Given the description of an element on the screen output the (x, y) to click on. 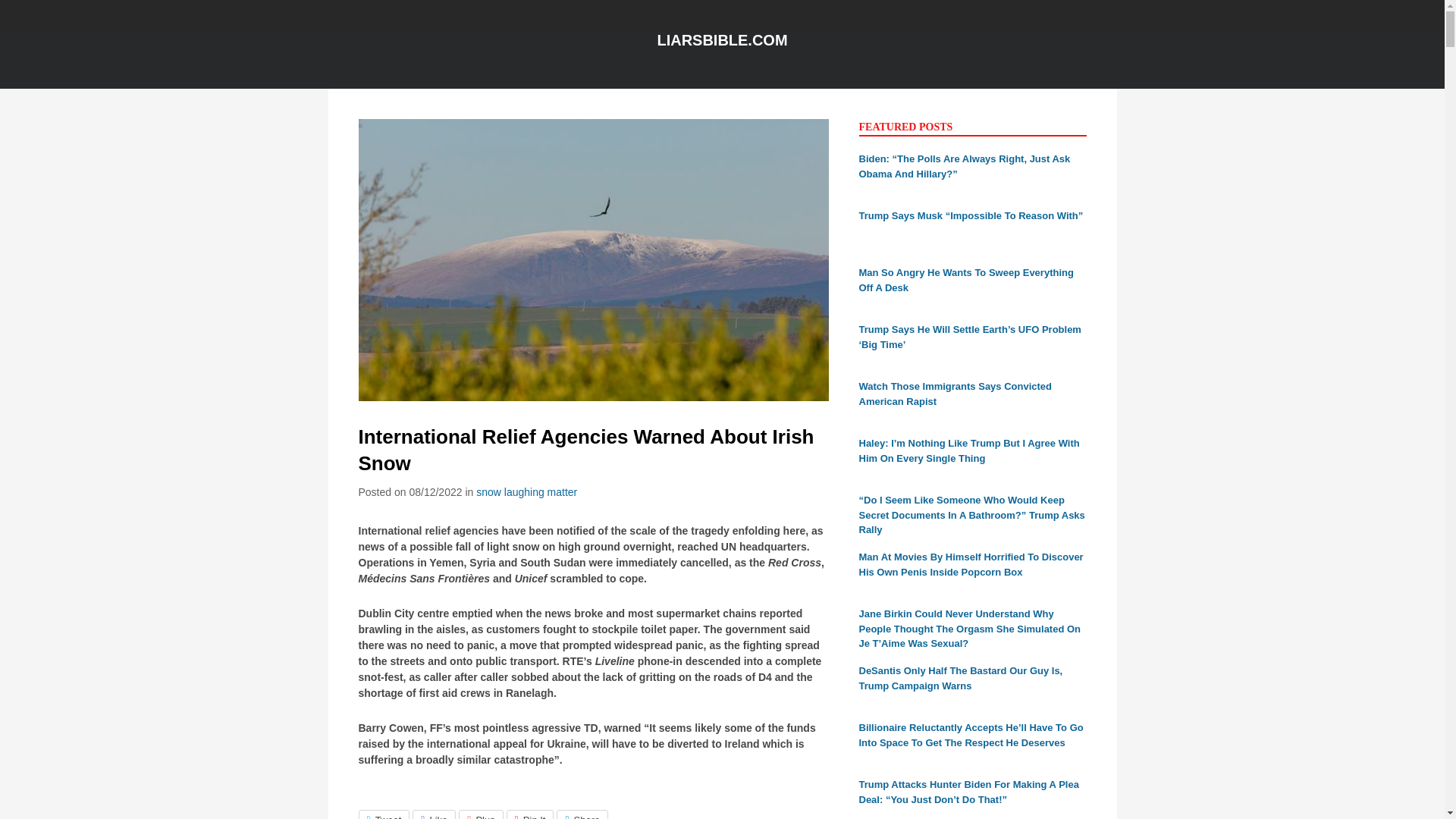
Share on Pinterest (530, 814)
snow laughing matter (526, 491)
Pin It (530, 814)
LiarsBible.com (721, 40)
Like (433, 814)
Share on LinkedIn (582, 814)
Watch Those Immigrants Says Convicted American Rapist (955, 393)
Tweet (383, 814)
